Given the description of an element on the screen output the (x, y) to click on. 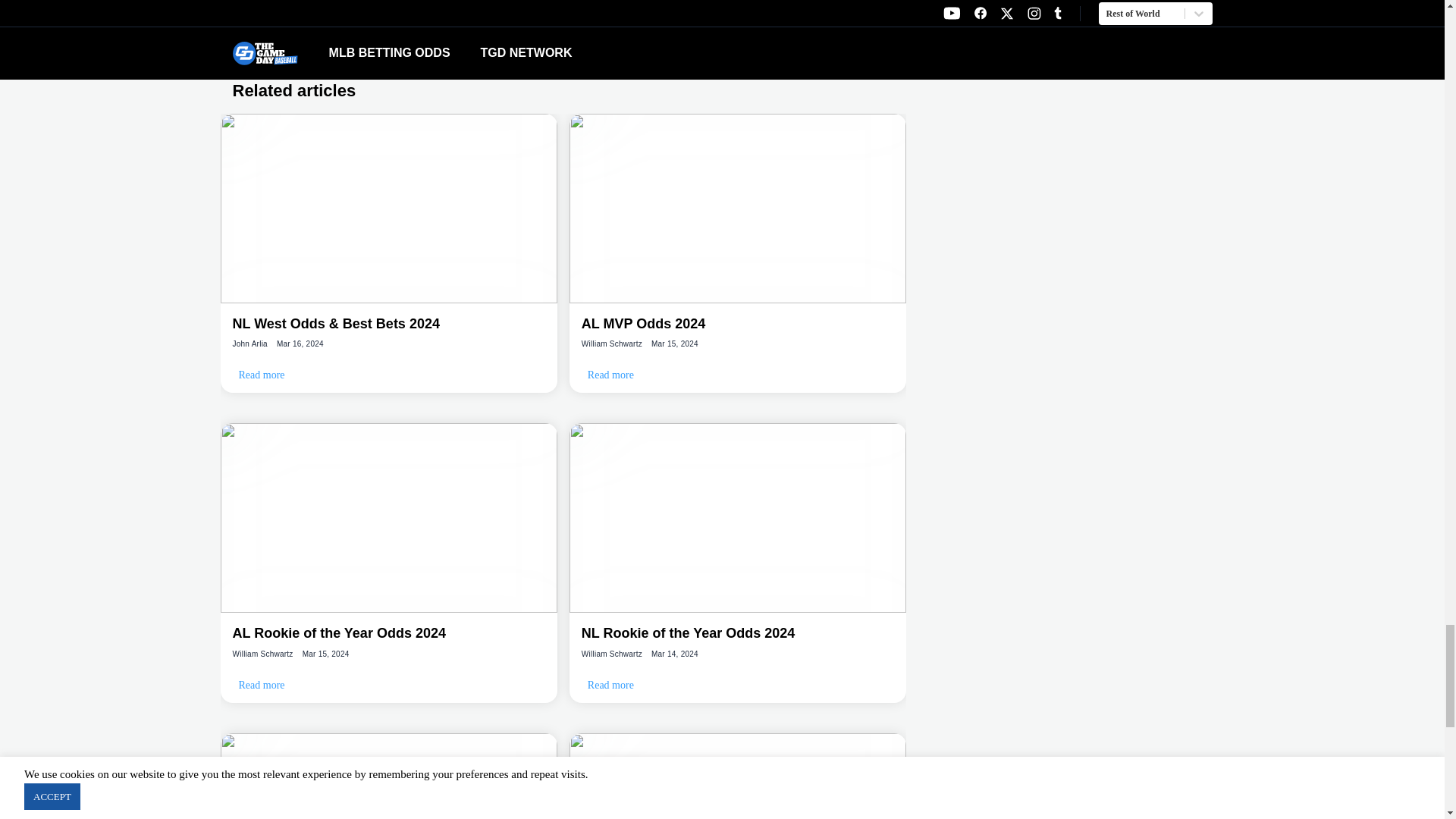
AL MVP Odds 2024 (736, 323)
Read more (260, 374)
Read more (610, 374)
